Given the description of an element on the screen output the (x, y) to click on. 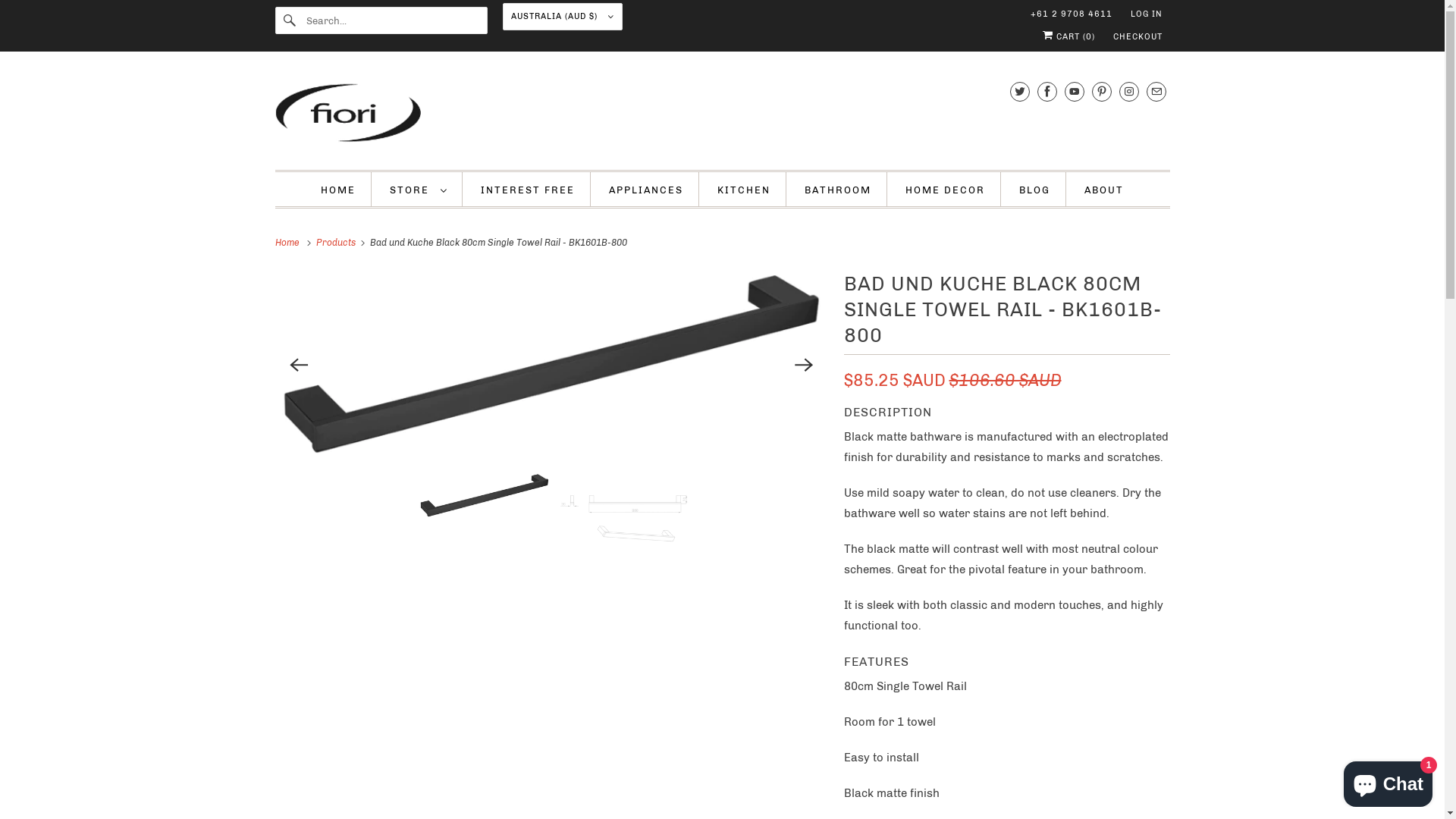
HOME Element type: text (337, 189)
Fiori - Bringing Your Home To Life Element type: hover (721, 114)
Fiori - Bringing Your Home To Life on YouTube Element type: hover (1074, 91)
AUSTRALIA (AUD $) Element type: text (561, 16)
Home Element type: text (288, 242)
CHECKOUT Element type: text (1137, 36)
+61 2 9708 4611 Element type: text (1070, 14)
Bad und Kuche Black 80cm Single Towel Rail - BK1601B-800 Element type: hover (552, 364)
Fiori - Bringing Your Home To Life on Twitter Element type: hover (1019, 91)
BATHROOM Element type: text (837, 189)
INTEREST FREE Element type: text (527, 189)
Fiori - Bringing Your Home To Life on Facebook Element type: hover (1047, 91)
Shopify online store chat Element type: hover (1388, 780)
HOME DECOR Element type: text (945, 189)
LOG IN Element type: text (1145, 14)
Email Fiori - Bringing Your Home To Life Element type: hover (1156, 91)
KITCHEN Element type: text (743, 189)
Fiori - Bringing Your Home To Life on Instagram Element type: hover (1129, 91)
BLOG Element type: text (1034, 189)
CART (0) Element type: text (1067, 36)
APPLIANCES Element type: text (645, 189)
Products Element type: text (336, 242)
Fiori - Bringing Your Home To Life on Pinterest Element type: hover (1101, 91)
ABOUT Element type: text (1103, 189)
